Given the description of an element on the screen output the (x, y) to click on. 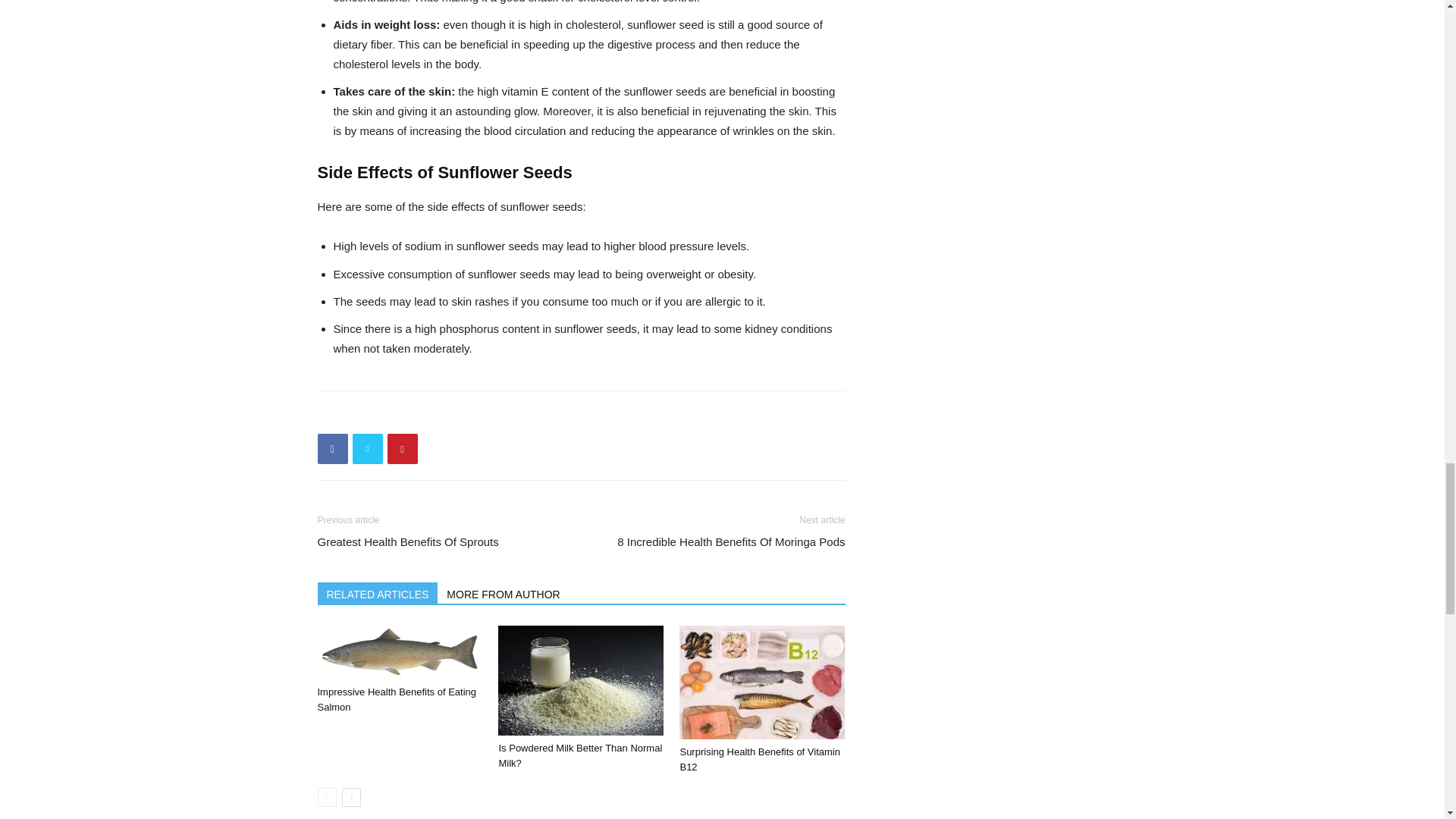
Impressive Health Benefits of Eating Salmon (399, 652)
Is Powdered Milk Better Than Normal Milk? (579, 755)
Impressive Health Benefits of Eating Salmon (396, 699)
Surprising Health Benefits of Vitamin B12 (761, 682)
Is Powdered Milk Better Than Normal Milk? (580, 680)
Surprising Health Benefits of Vitamin B12 (759, 759)
